Given the description of an element on the screen output the (x, y) to click on. 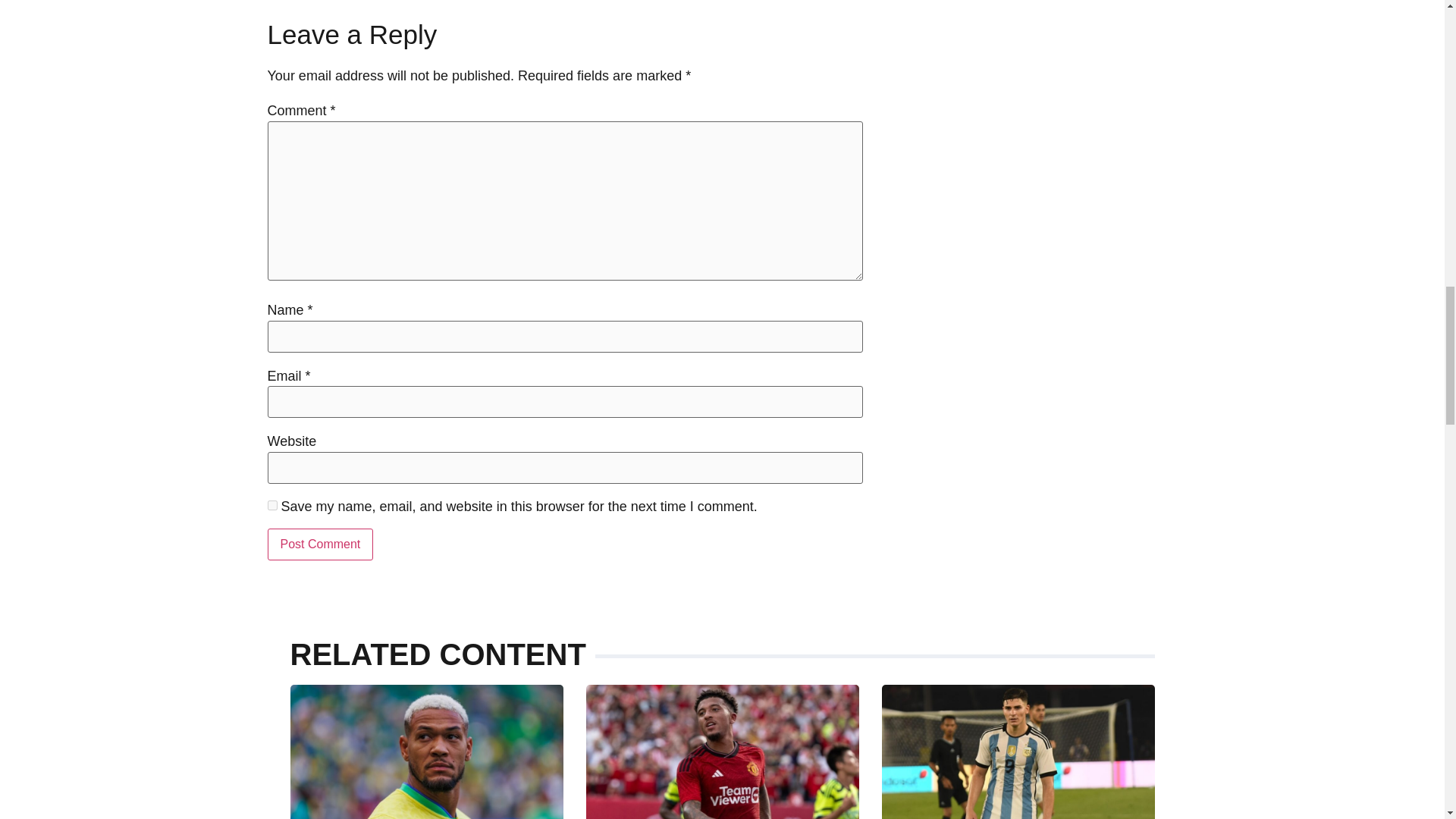
yes (271, 505)
Post Comment (319, 544)
